Given the description of an element on the screen output the (x, y) to click on. 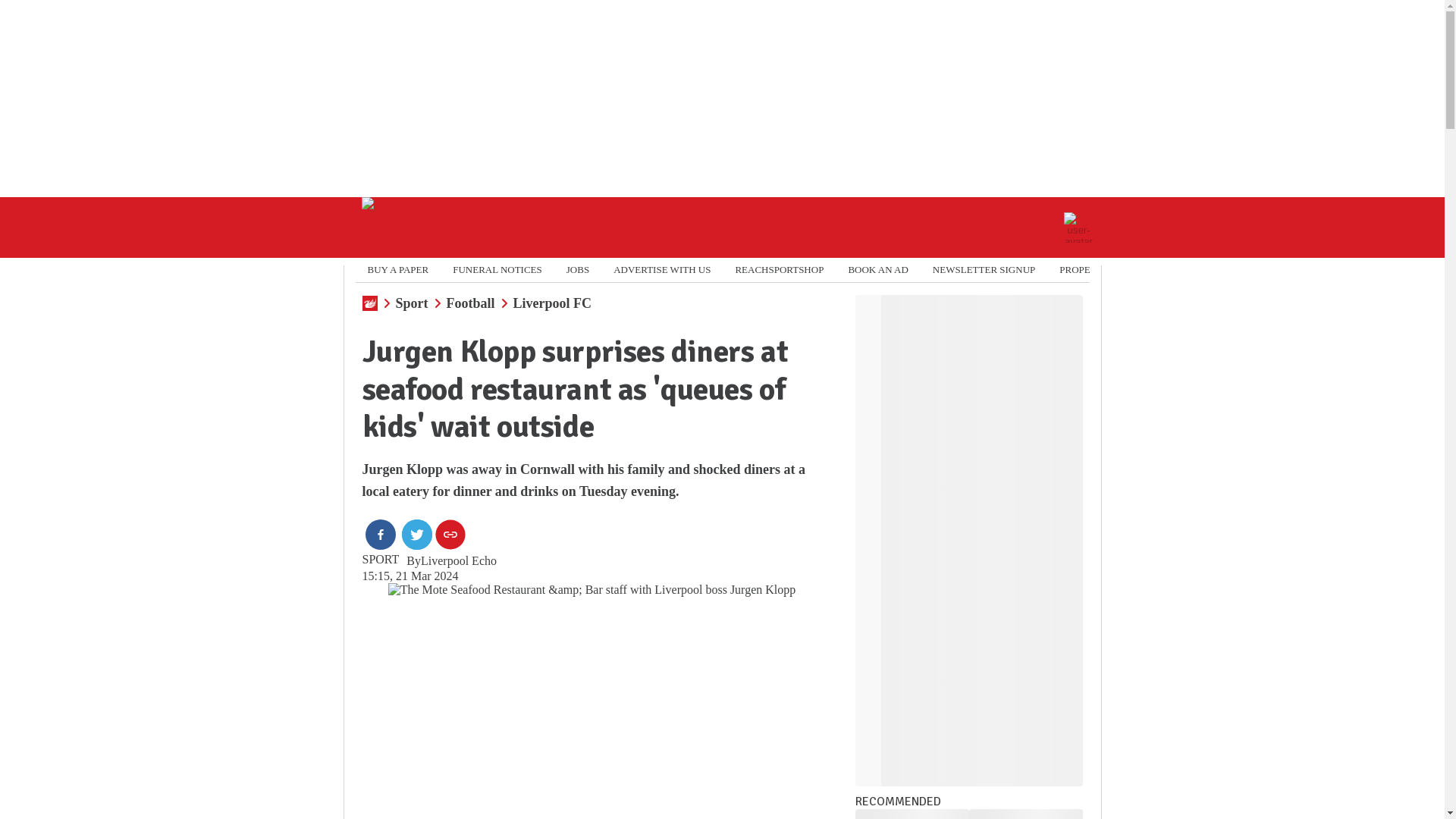
BUY A PAPER (397, 270)
REACHSPORTSHOP (779, 270)
Go to the Liverpool Echo homepage (411, 227)
PROPERTY (1084, 270)
ADVERTISE WITH US (661, 270)
avatar (1077, 227)
Sport (412, 303)
SPORT (380, 559)
Football (470, 303)
JOBS (577, 270)
